Given the description of an element on the screen output the (x, y) to click on. 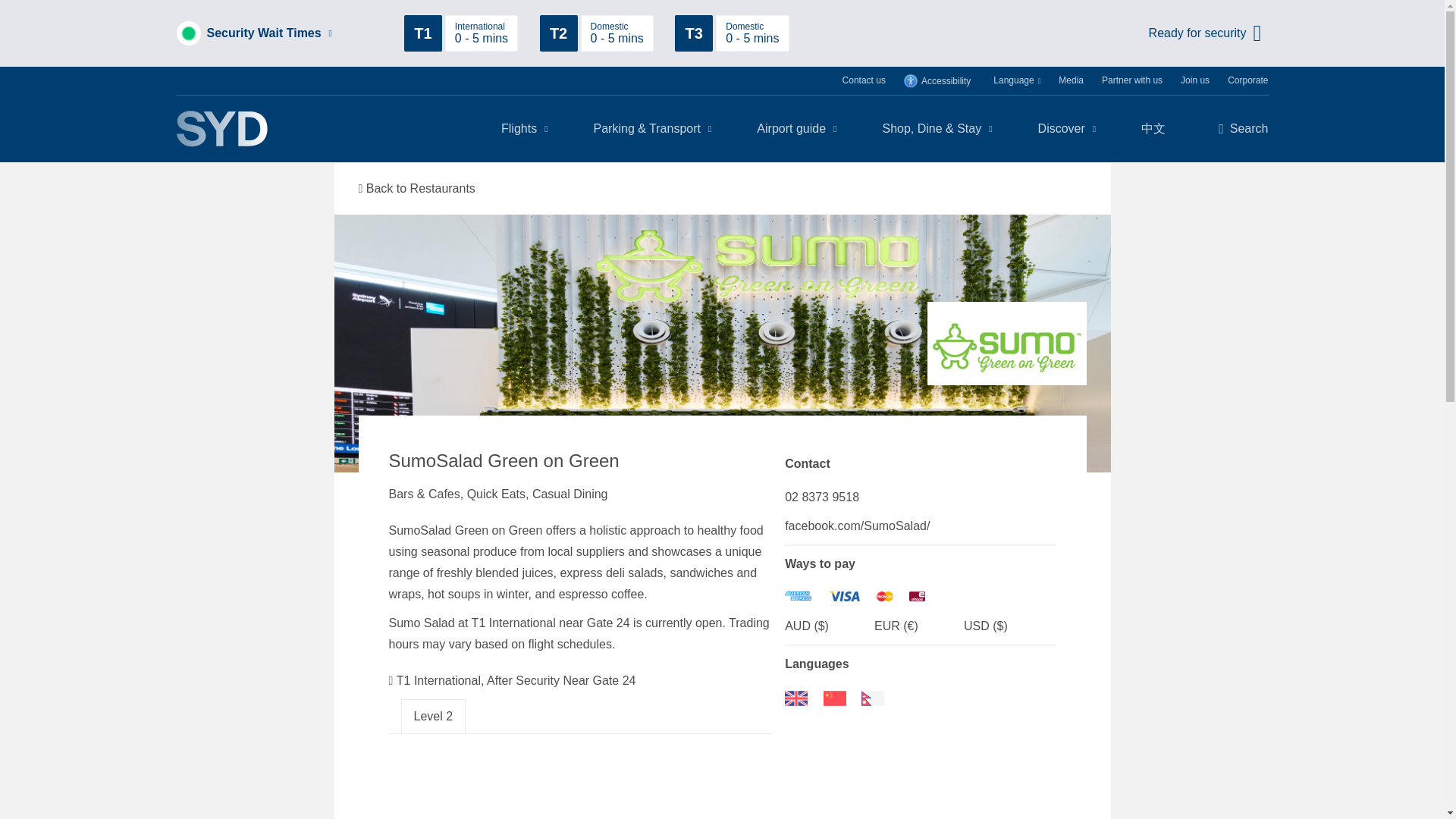
Nepalese (872, 698)
Chinese (834, 698)
English (796, 698)
